Given the description of an element on the screen output the (x, y) to click on. 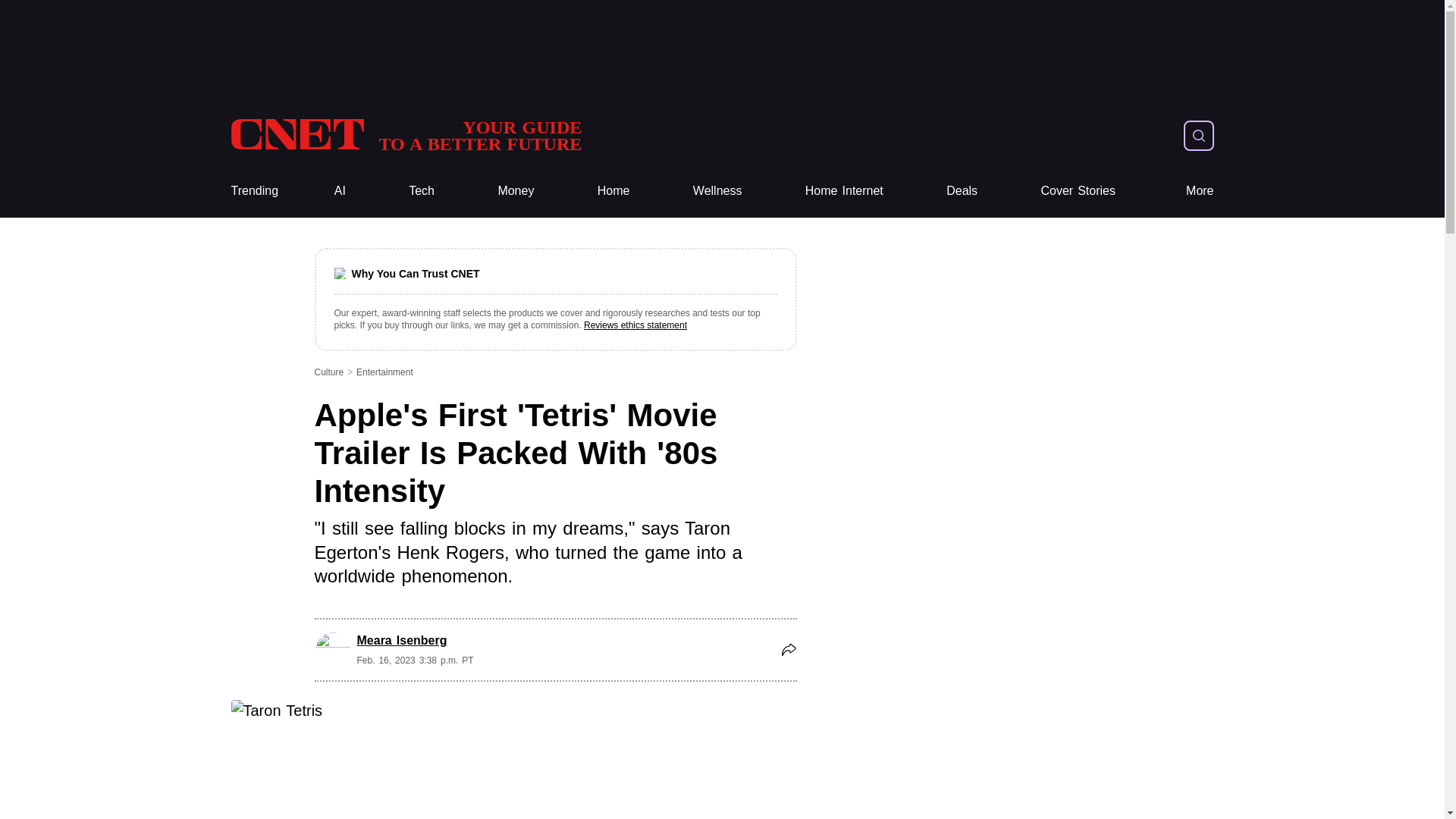
Deals (961, 190)
CNET (405, 135)
Home Internet (405, 135)
Home Internet (844, 190)
Money (844, 190)
More (515, 190)
Home (1199, 190)
Trending (613, 190)
Home (254, 190)
